Given the description of an element on the screen output the (x, y) to click on. 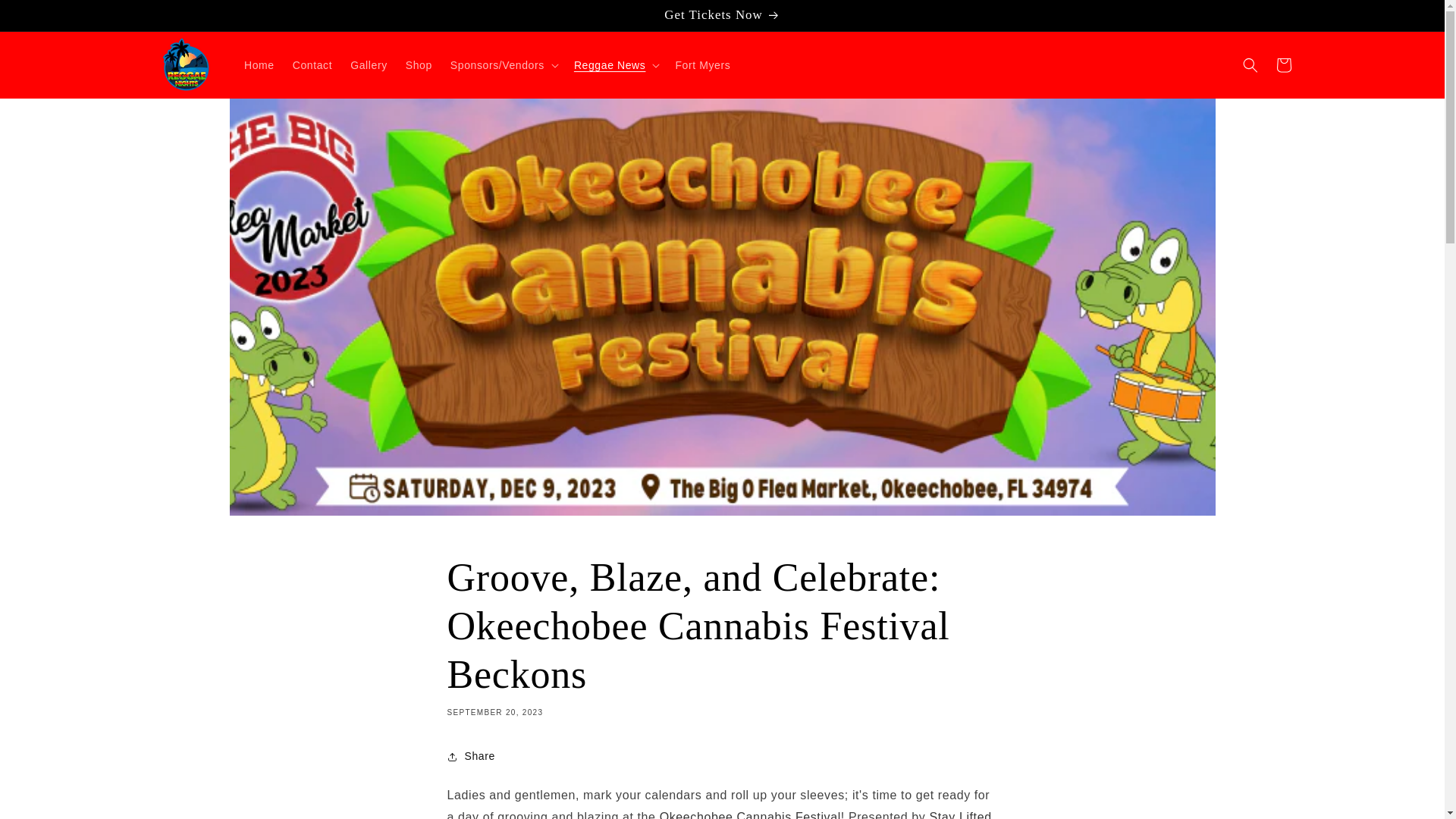
Contact (311, 65)
Skip to content (45, 17)
Gallery (368, 65)
Eventbrite Page (750, 814)
Home (258, 65)
Stay Lifted Events Website (718, 814)
Shop (418, 65)
